Given the description of an element on the screen output the (x, y) to click on. 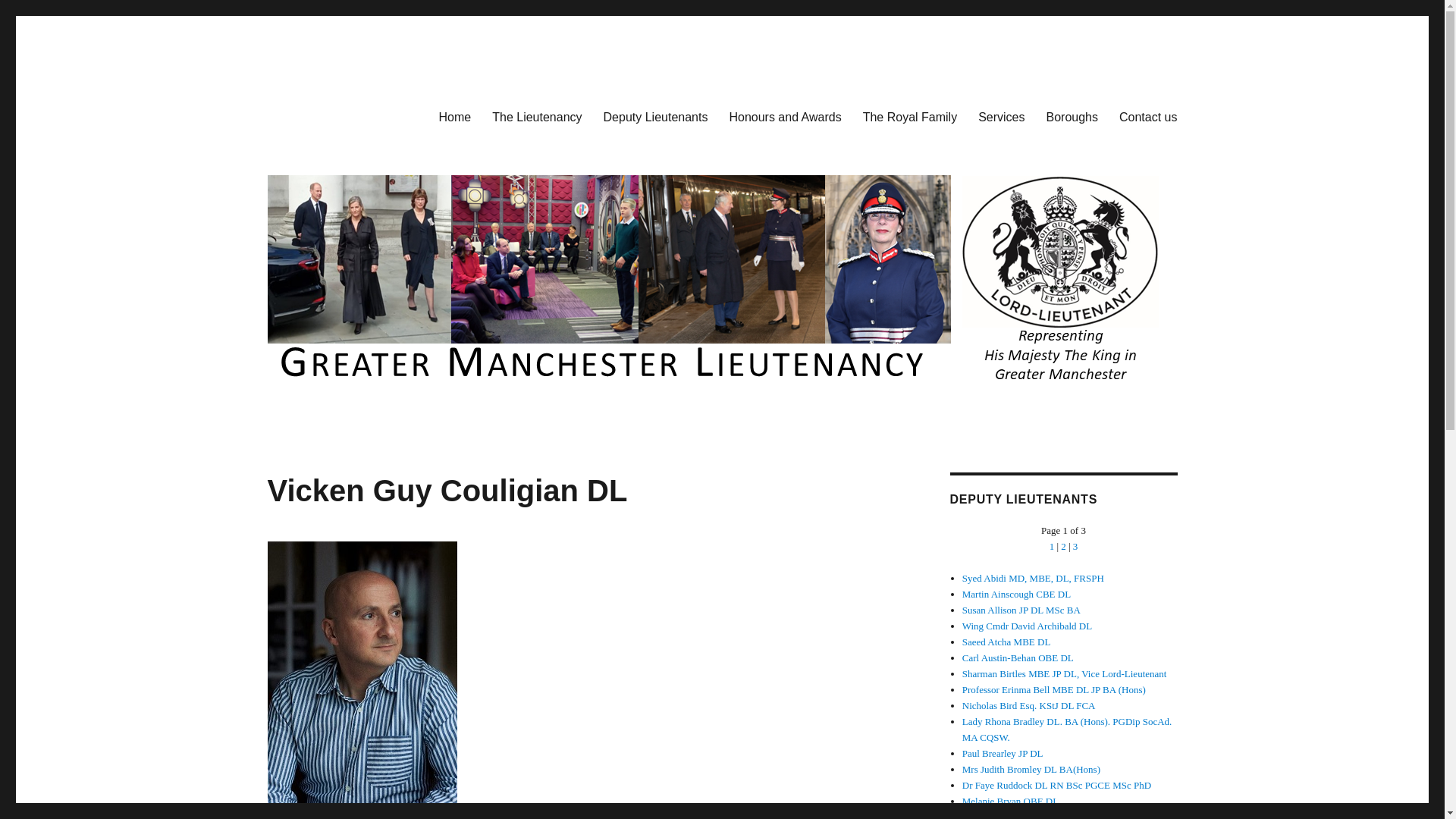
Martin Ainscough CBE DL (1016, 593)
Dr Faye Ruddock DL RN BSc PGCE MSc PhD (1056, 785)
David Catterall DL (1000, 815)
Saeed Atcha MBE DL (1006, 641)
Susan Allison JP DL MSc BA (1021, 609)
Syed Abidi MD, MBE, DL, FRSPH (1032, 577)
Greater Manchester Lieutenancy (430, 114)
DEPUTY LIEUTENANTS (1023, 499)
Deputy Lieutenants (655, 116)
Wing Cmdr David Archibald DL (1027, 625)
